Given the description of an element on the screen output the (x, y) to click on. 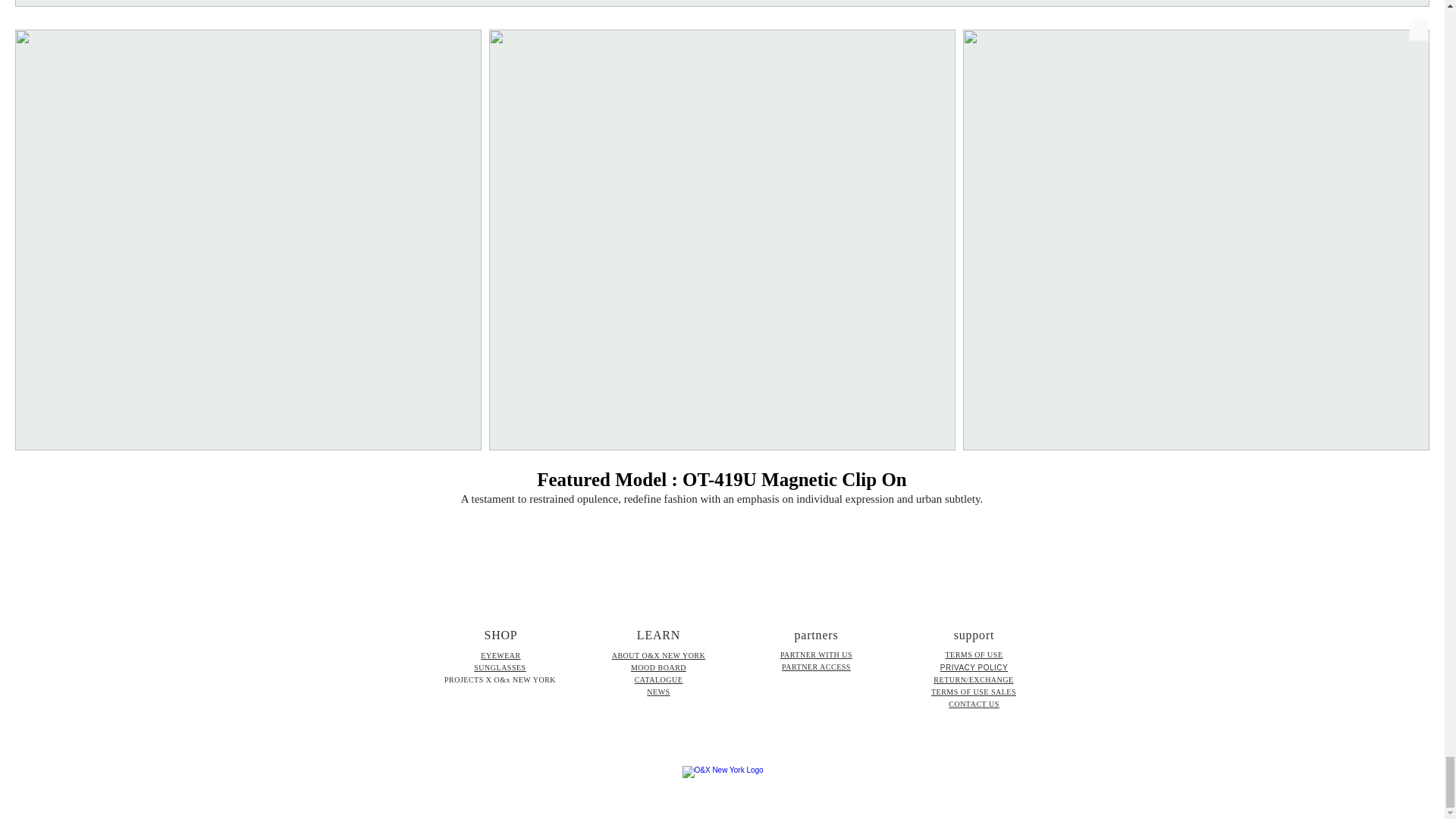
SUNGLASSES (499, 667)
EYEWEAR (499, 655)
MOOD BOARD (657, 667)
CATALOGUE (658, 679)
